Given the description of an element on the screen output the (x, y) to click on. 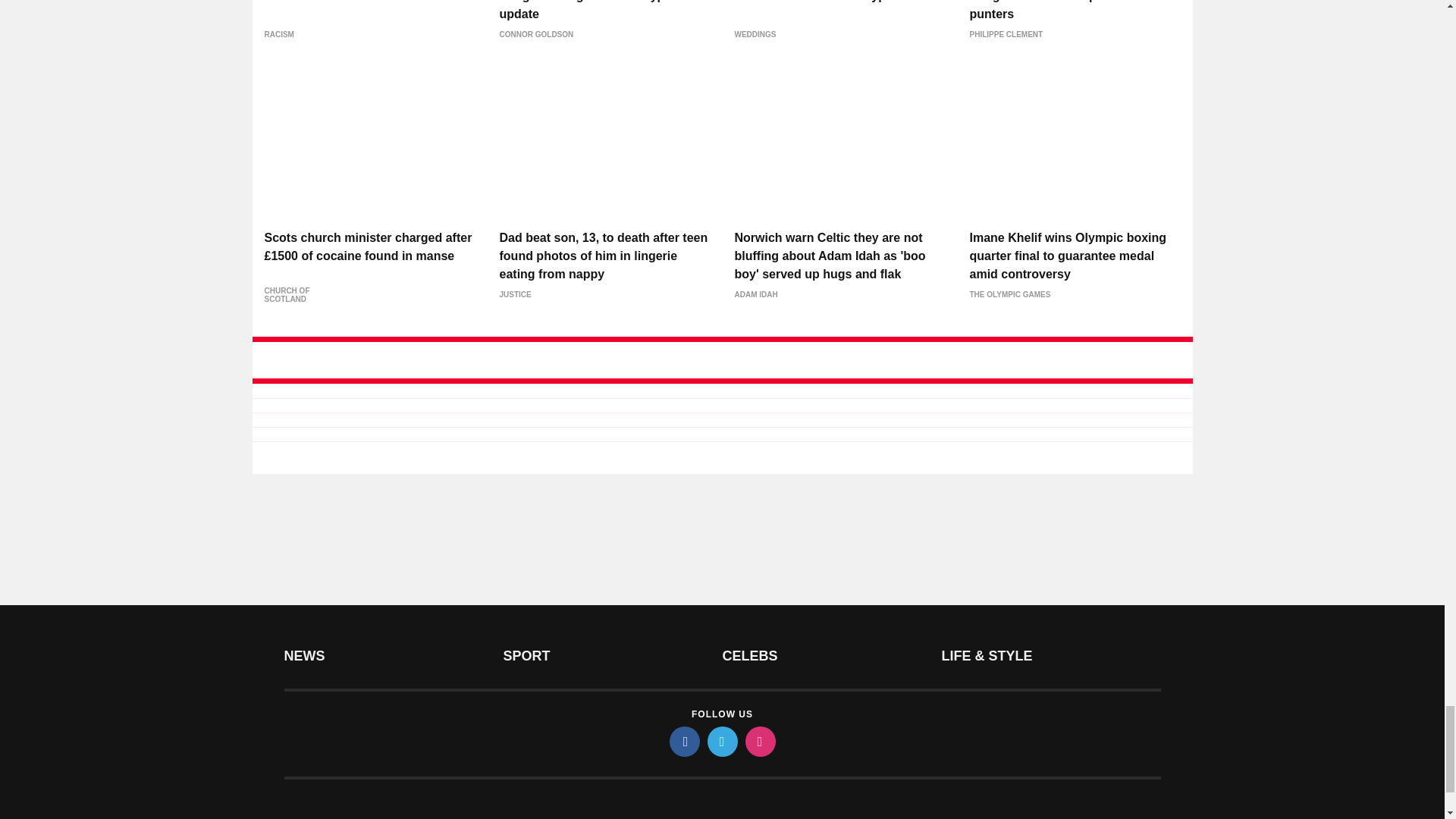
facebook (683, 741)
instagram (759, 741)
twitter (721, 741)
